Given the description of an element on the screen output the (x, y) to click on. 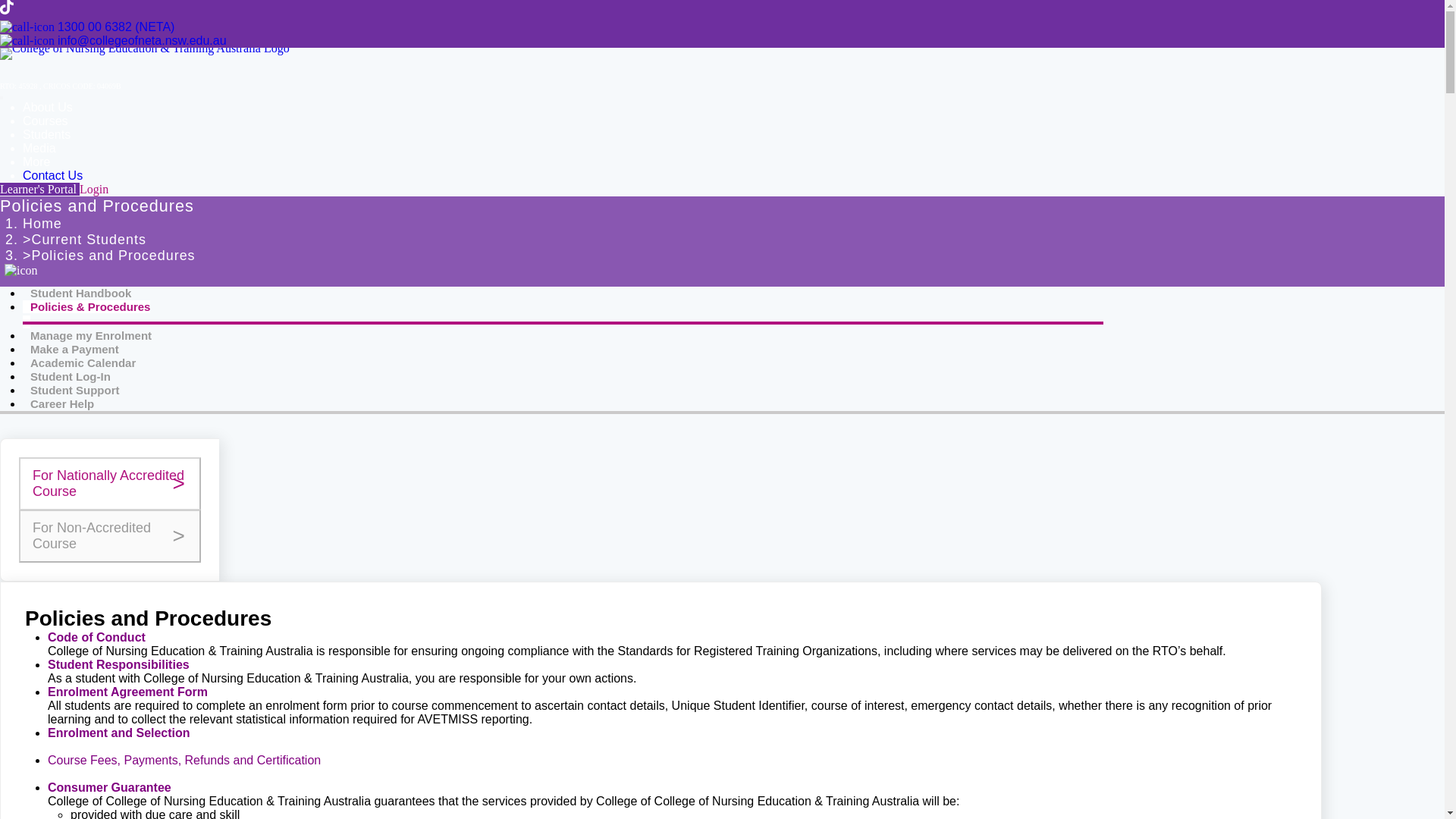
Students (46, 133)
Consumer Guarantee (109, 787)
Home (42, 223)
Code of Conduct (96, 636)
Login (93, 188)
Enrolment Agreement Form (128, 691)
Media (39, 147)
About Us (47, 106)
Student Handbook (80, 292)
Courses (45, 120)
